Given the description of an element on the screen output the (x, y) to click on. 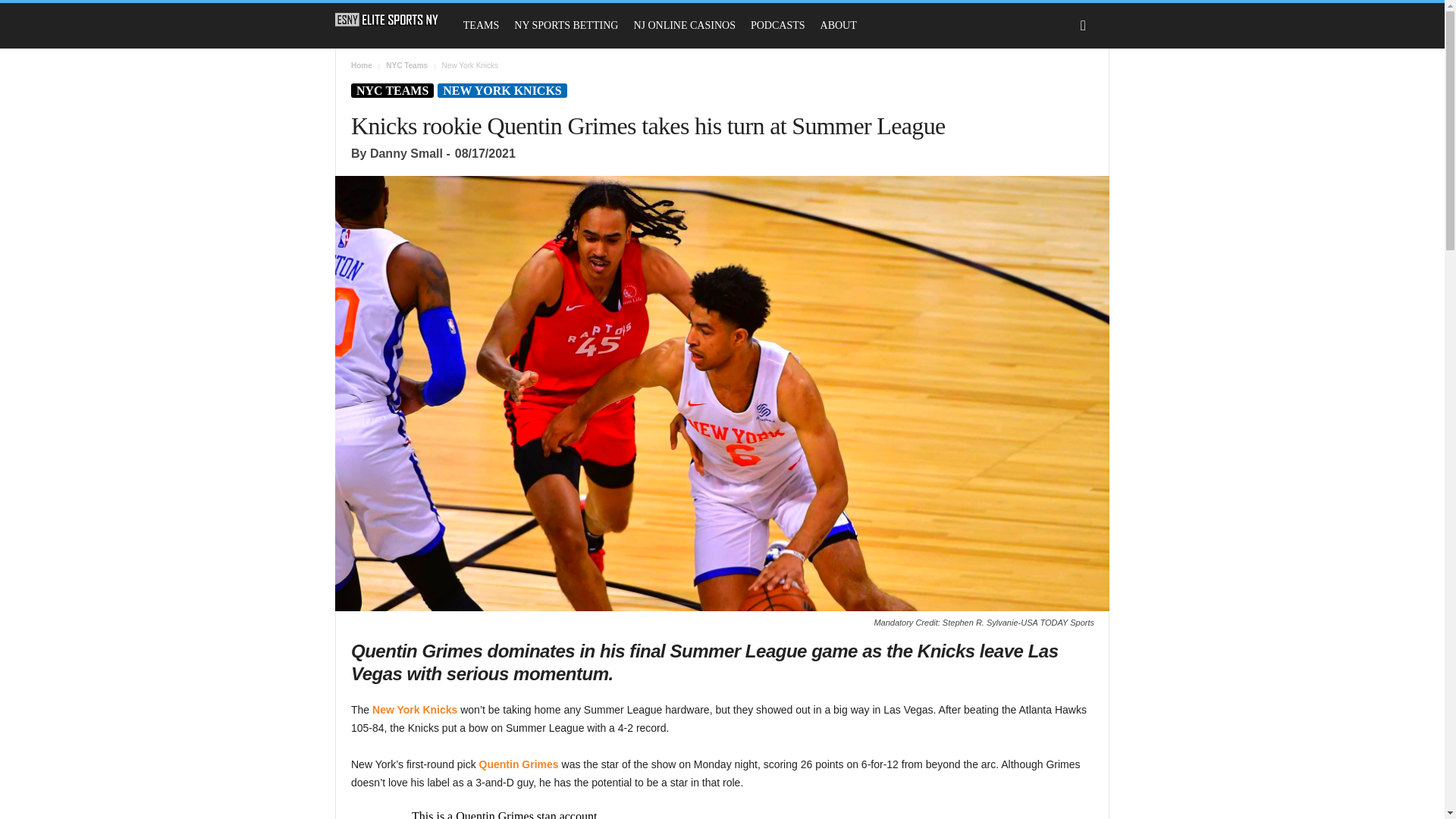
TEAMS (480, 25)
Elite Sports NY (386, 19)
View all posts in NYC Teams (406, 65)
Elite Sports NY (394, 19)
